Given the description of an element on the screen output the (x, y) to click on. 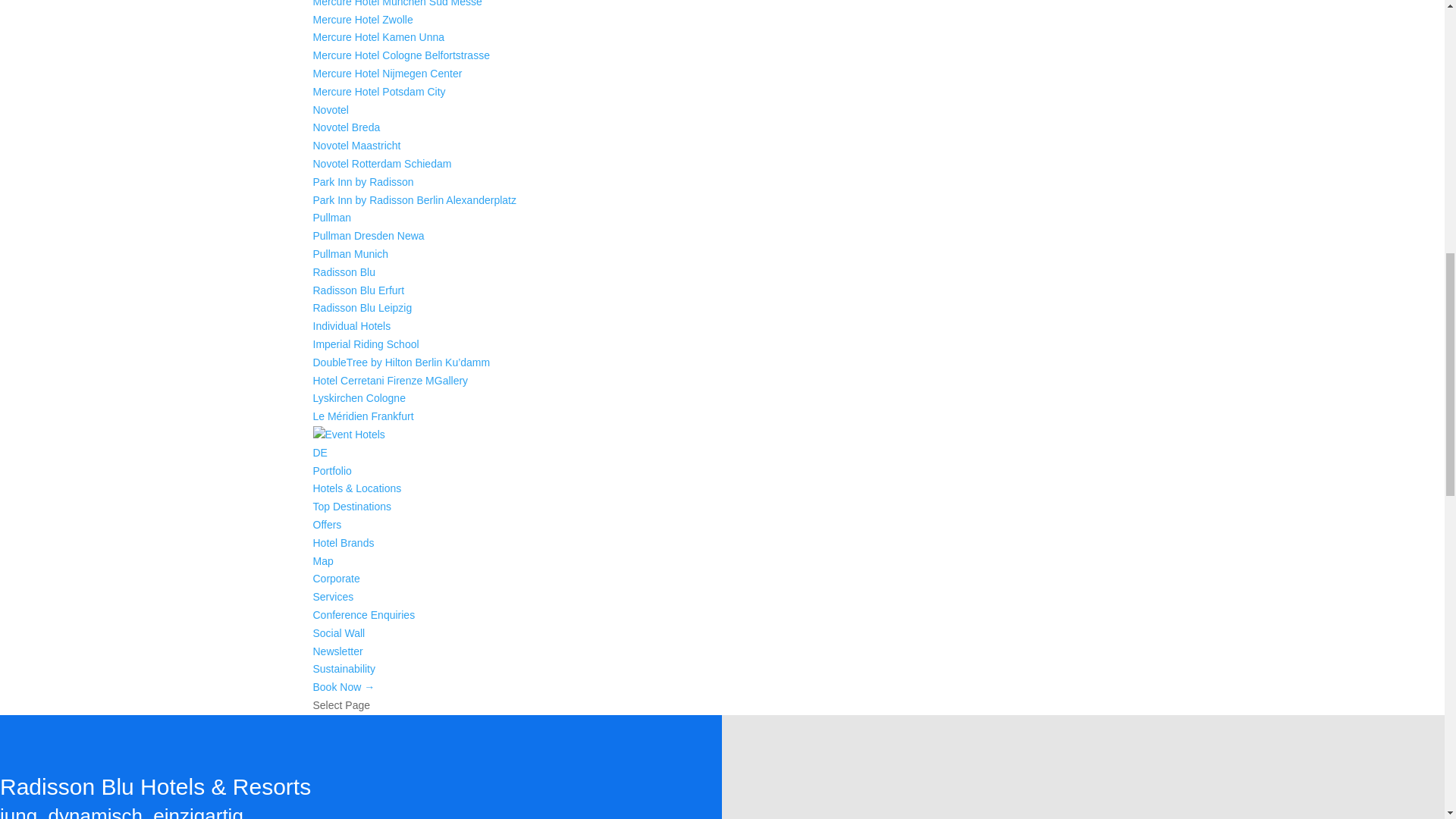
visit our social wall (339, 633)
Request your meeting offer now online! (363, 614)
Overview Hotels (331, 470)
Our Top Destionations in Europe (352, 506)
Hotelbrands we work with (343, 542)
Our Hotels in Europe (357, 488)
DE (319, 452)
Book Now our Hotels! (343, 686)
